Given the description of an element on the screen output the (x, y) to click on. 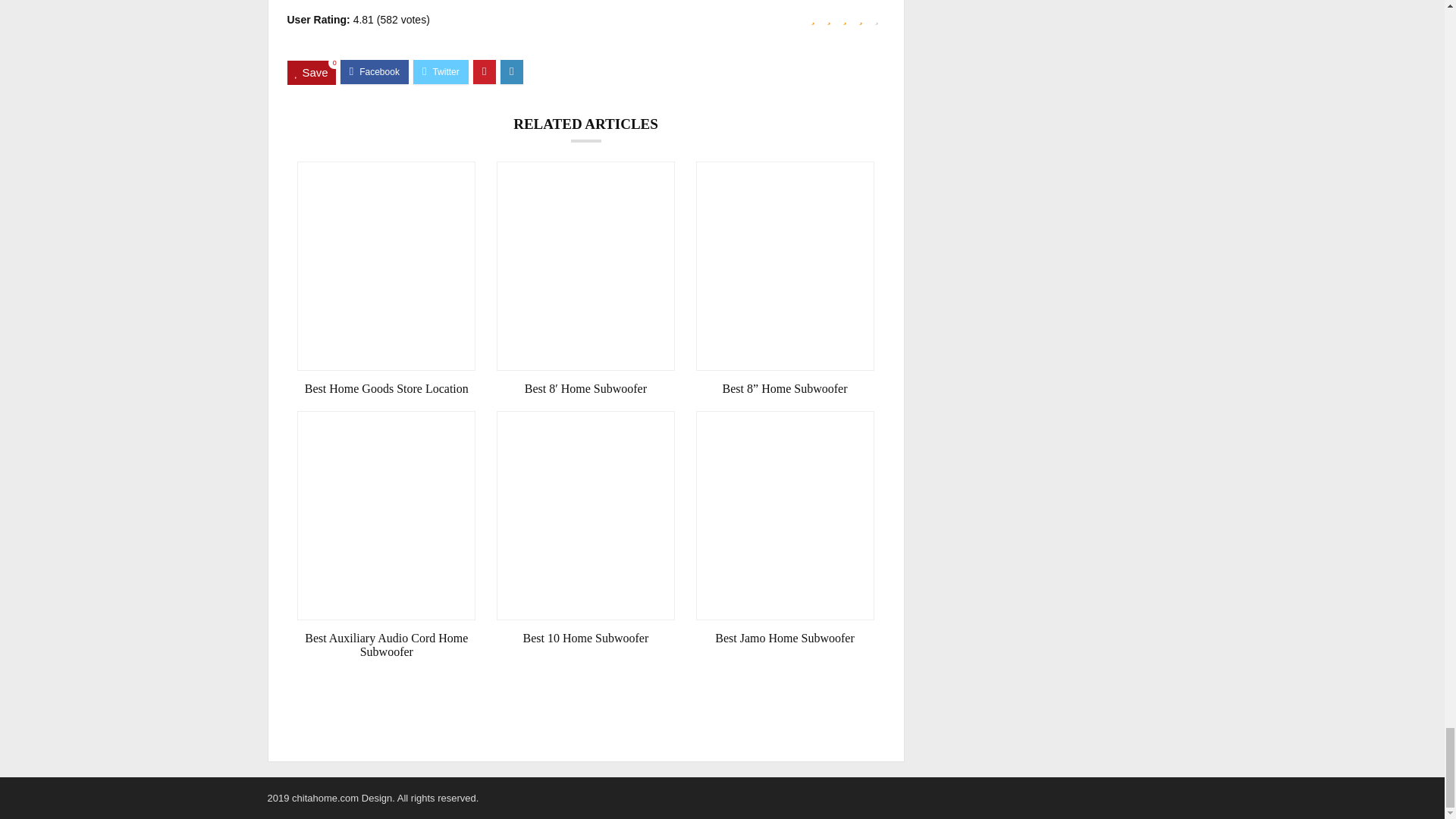
Best Jamo Home Subwoofer (785, 638)
Best 10 Home Subwoofer (585, 638)
Best Auxiliary Audio Cord Home Subwoofer (386, 645)
Best Home Goods Store Location (386, 388)
